Given the description of an element on the screen output the (x, y) to click on. 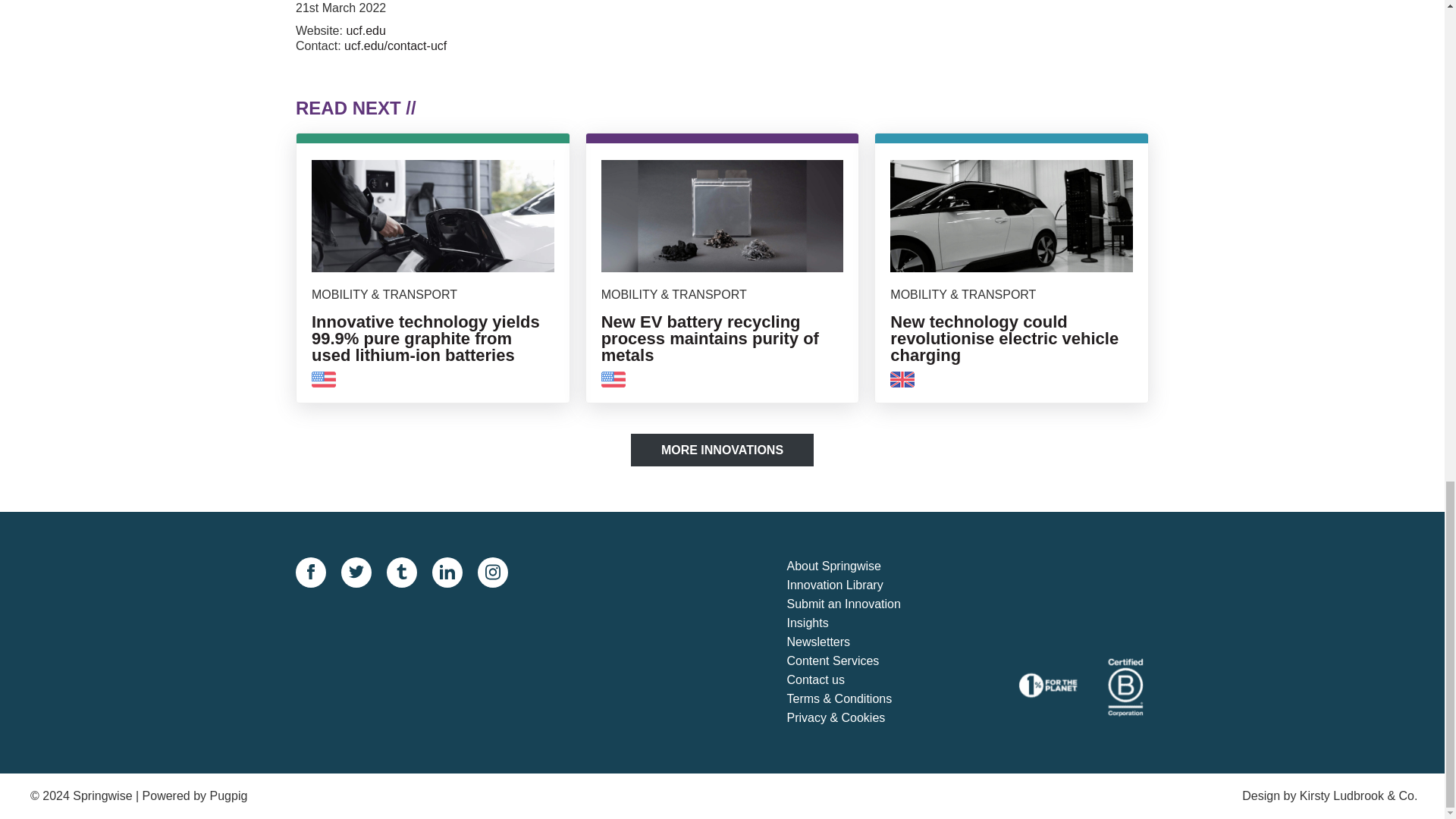
MORE INNOVATIONS (721, 450)
Newsletters (856, 642)
ucf.edu (365, 30)
Insights (856, 623)
About Springwise (856, 566)
Innovation Library (856, 585)
Submit an Innovation (856, 604)
Content Services (856, 660)
Contact us (856, 680)
